Given the description of an element on the screen output the (x, y) to click on. 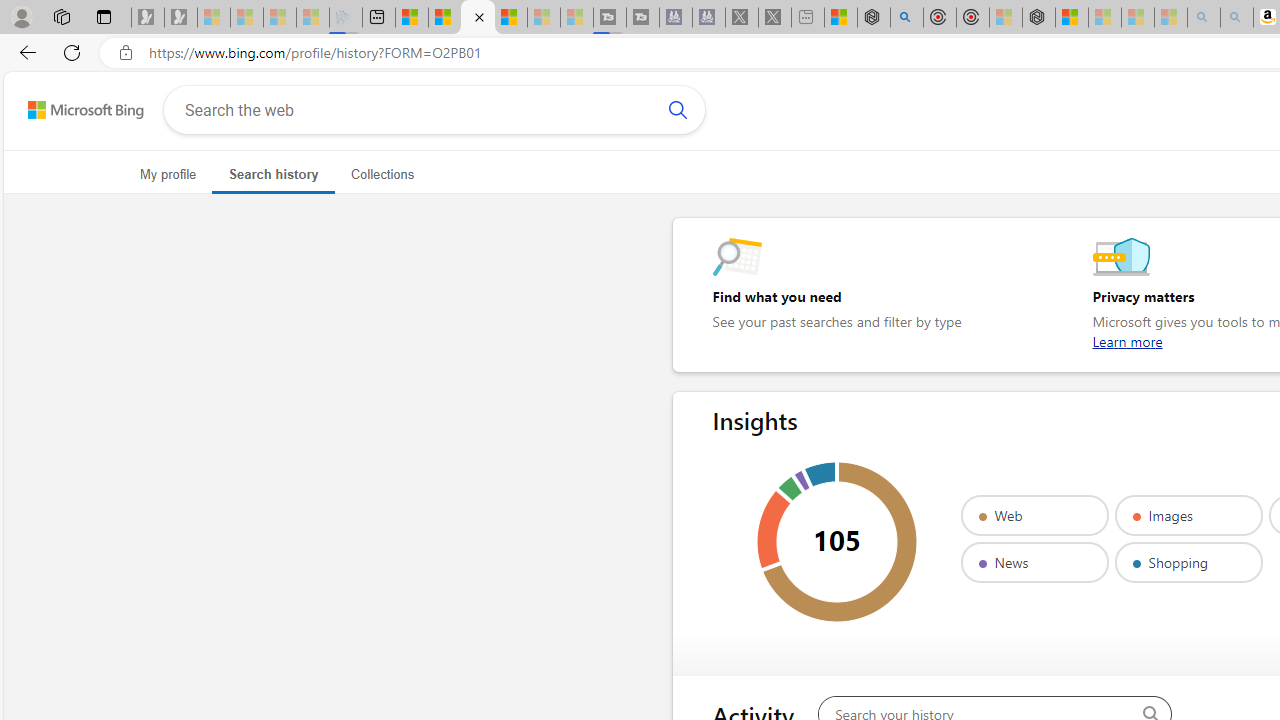
Class: el_arc partner-web (839, 542)
Back to Bing search (73, 105)
Class: el_arc partner-news (801, 480)
